Given the description of an element on the screen output the (x, y) to click on. 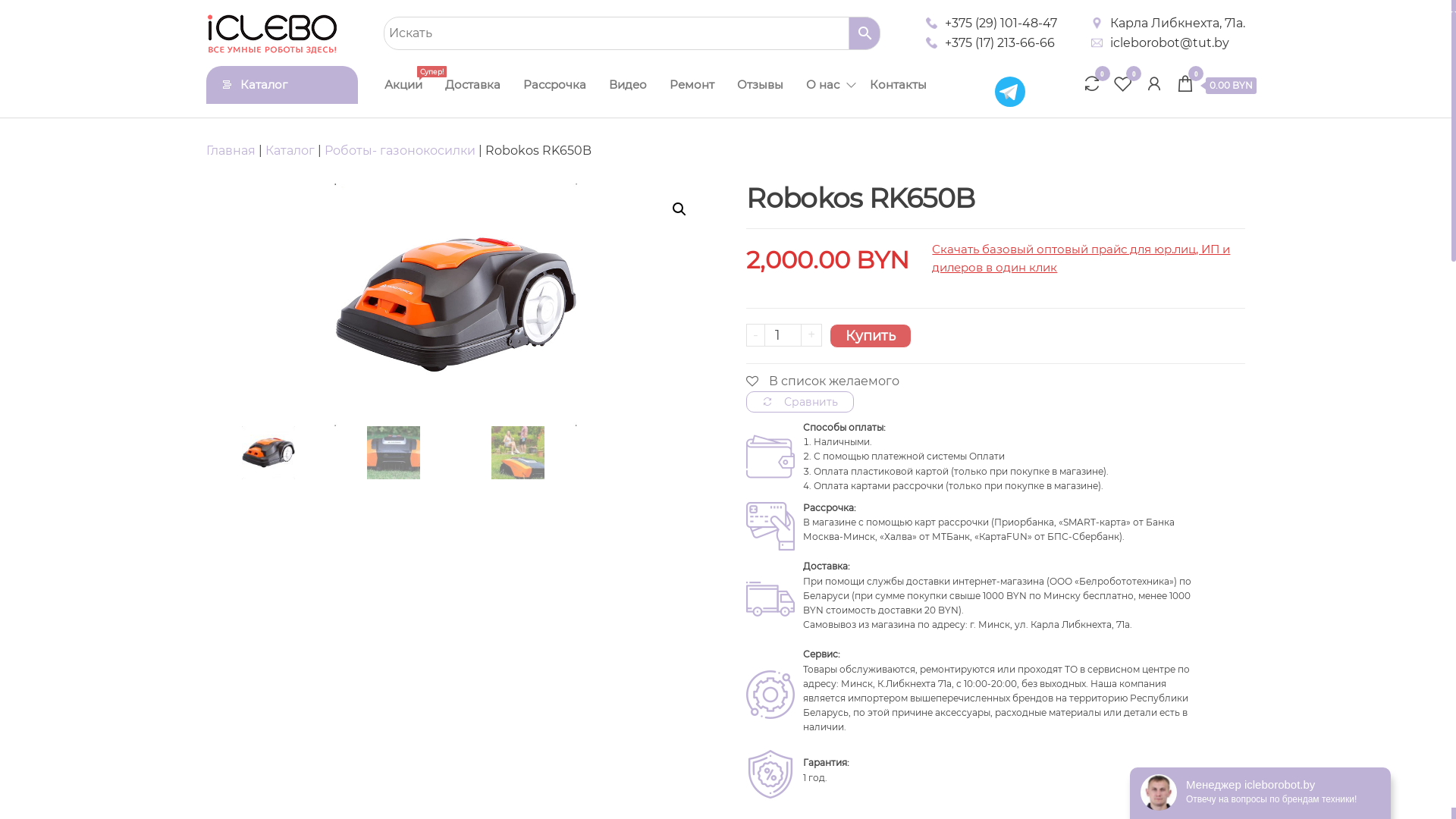
+375 (17) 213-66-66 Element type: text (999, 43)
0
0.00 BYN Element type: text (1215, 86)
icleborobot@tut.by Element type: text (1169, 43)
- Element type: text (755, 334)
Robokos.YardForce RK650B Element type: hover (455, 304)
+ Element type: text (811, 334)
+375 (29) 101-48-47 Element type: text (1000, 23)
